Given the description of an element on the screen output the (x, y) to click on. 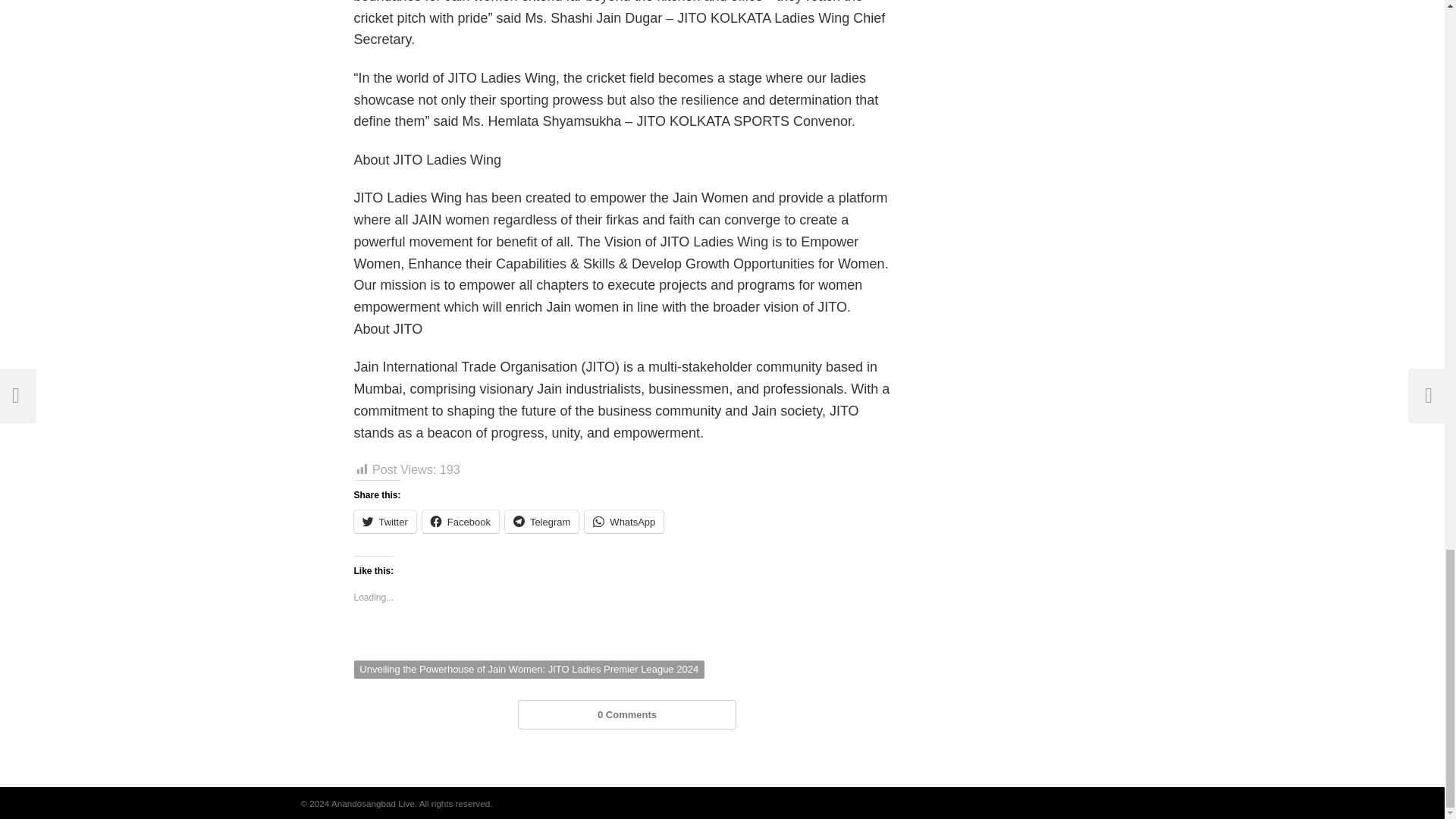
Click to share on Telegram (541, 521)
Click to share on Facebook (460, 521)
Click to share on Twitter (383, 521)
Click to share on WhatsApp (624, 521)
